Given the description of an element on the screen output the (x, y) to click on. 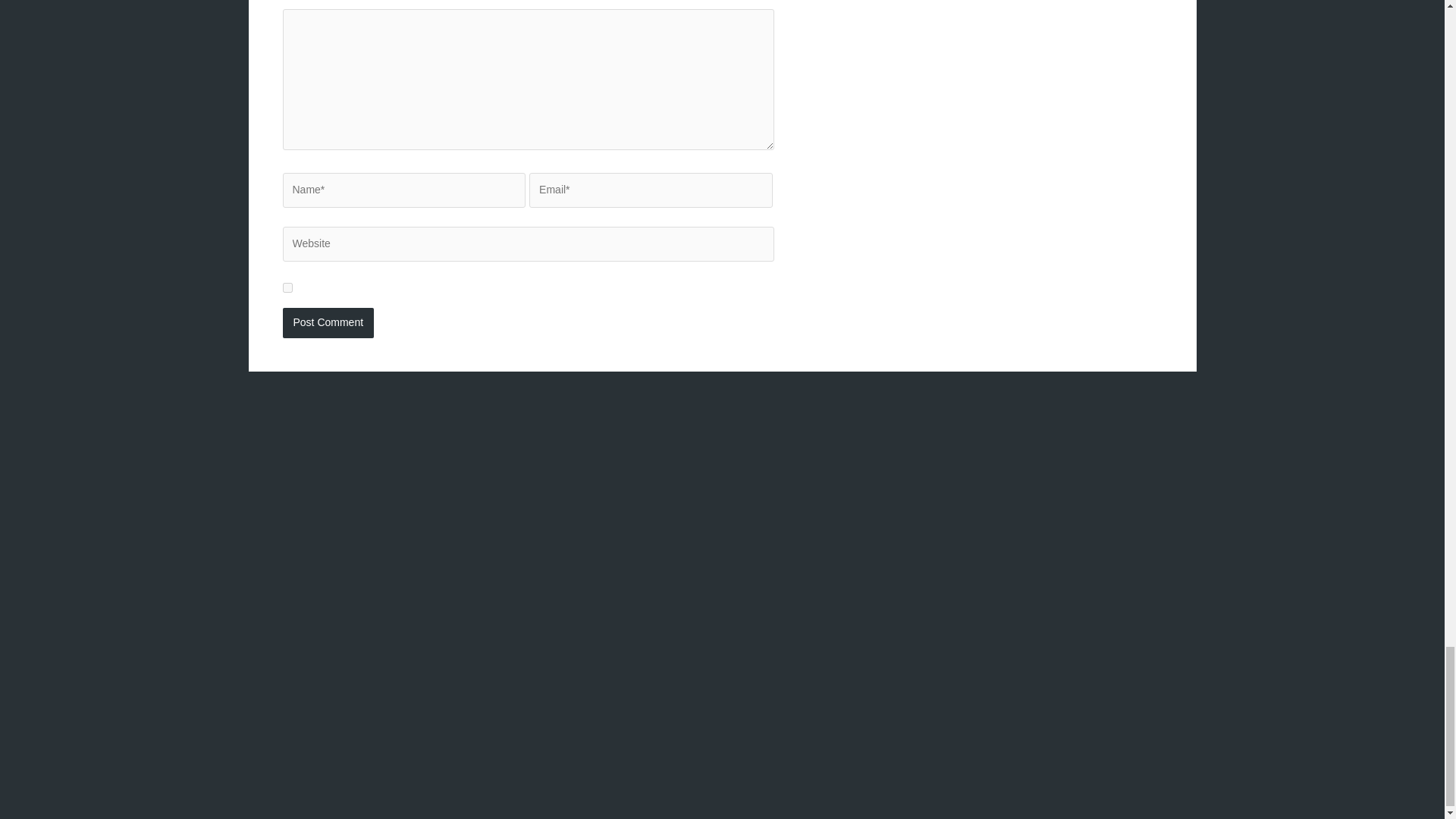
yes (287, 287)
Post Comment (328, 322)
Post Comment (328, 322)
